Given the description of an element on the screen output the (x, y) to click on. 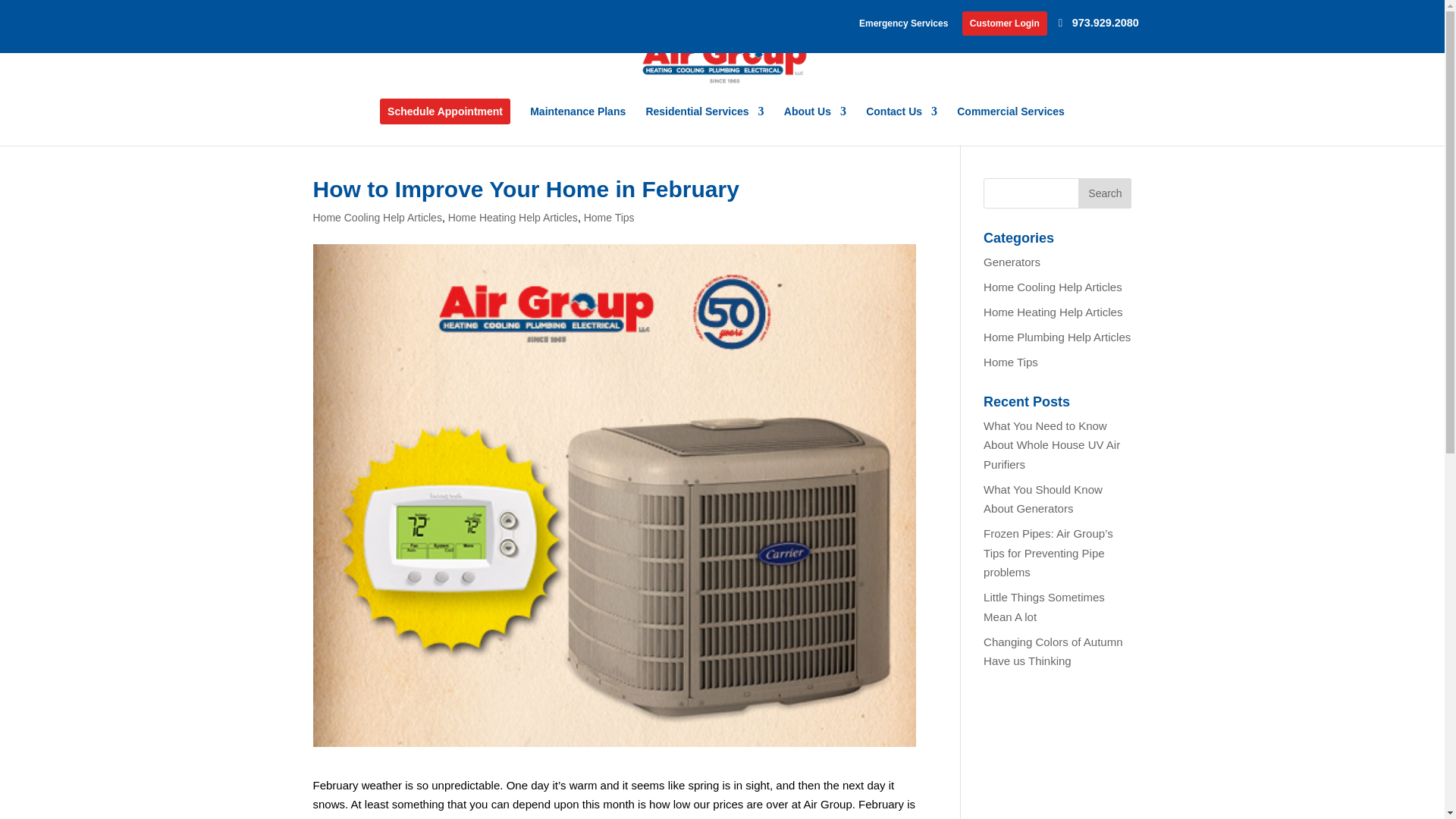
Customer Login (1004, 26)
Residential Services (703, 122)
Search (1104, 193)
Schedule Appointment (445, 121)
Maintenance Plans (577, 122)
About Us (814, 122)
Contact Us (901, 122)
973.929.2080 (1098, 25)
Commercial Services (1010, 122)
Emergency Services (903, 26)
